Given the description of an element on the screen output the (x, y) to click on. 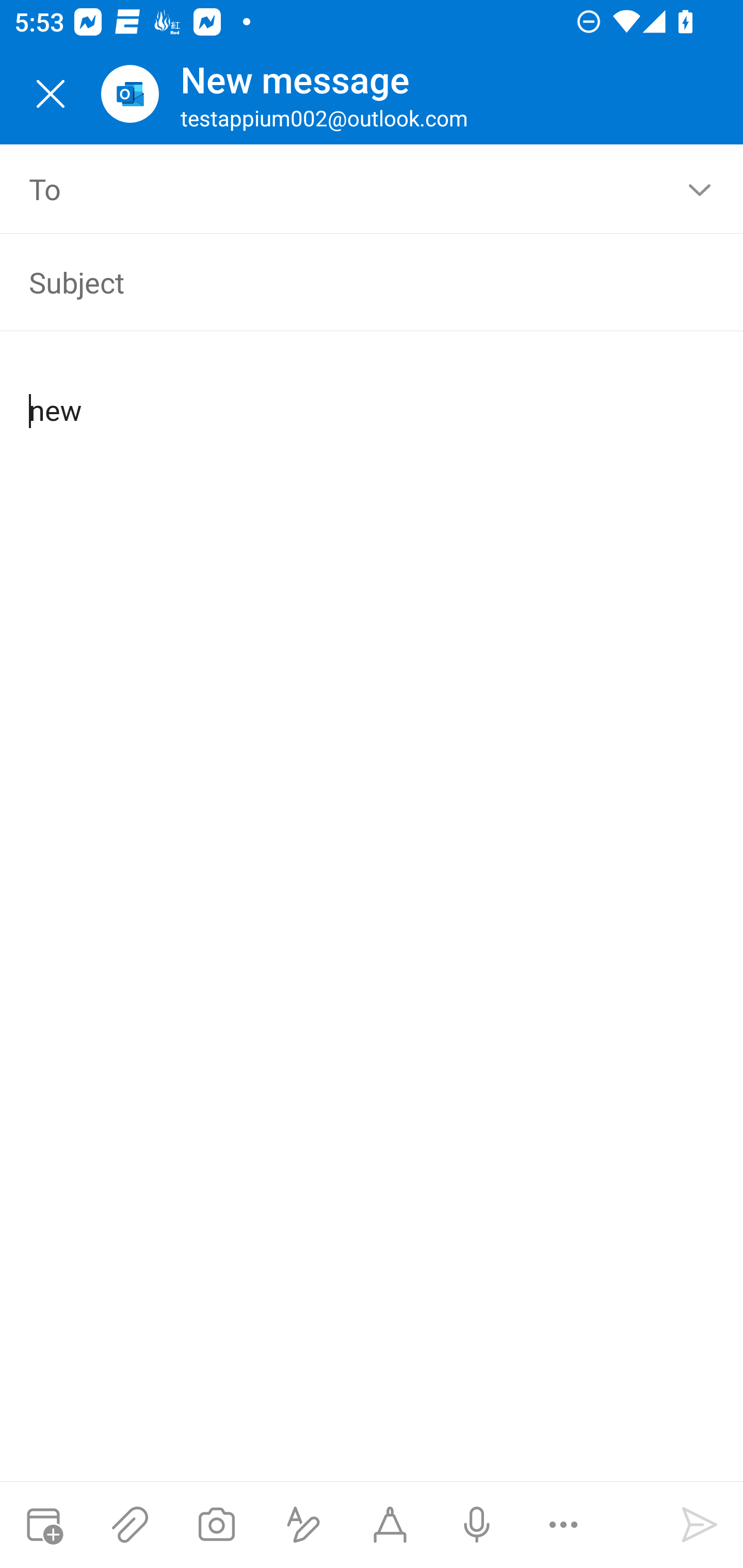
Close (50, 93)
Subject (342, 281)

new (372, 394)
Attach meeting (43, 1524)
Attach files (129, 1524)
Take a photo (216, 1524)
Show formatting options (303, 1524)
Start Ink compose (389, 1524)
Dictation (476, 1524)
More options (563, 1524)
Send (699, 1524)
